Given the description of an element on the screen output the (x, y) to click on. 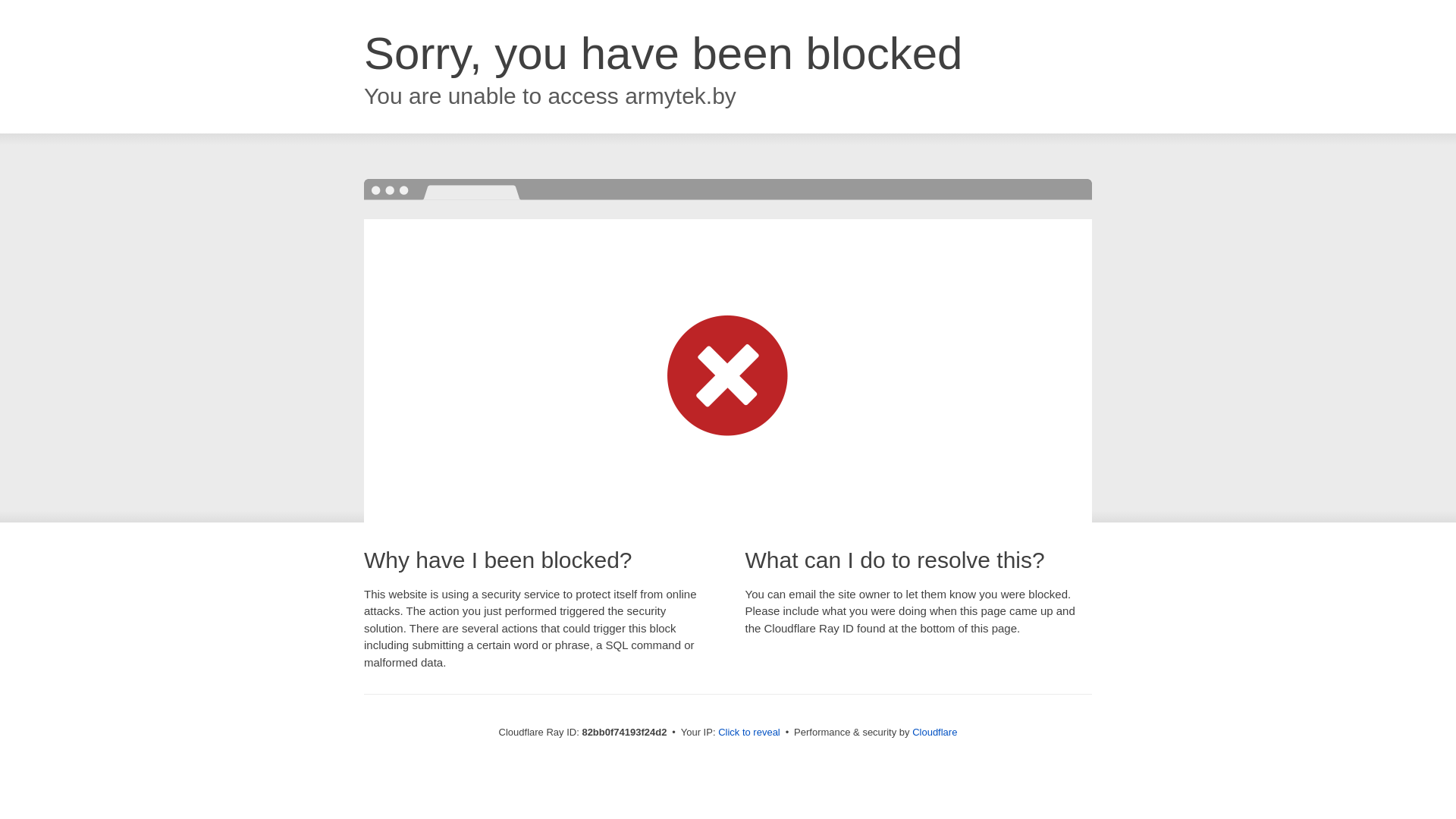
Cloudflare Element type: text (934, 731)
Click to reveal Element type: text (749, 732)
